Given the description of an element on the screen output the (x, y) to click on. 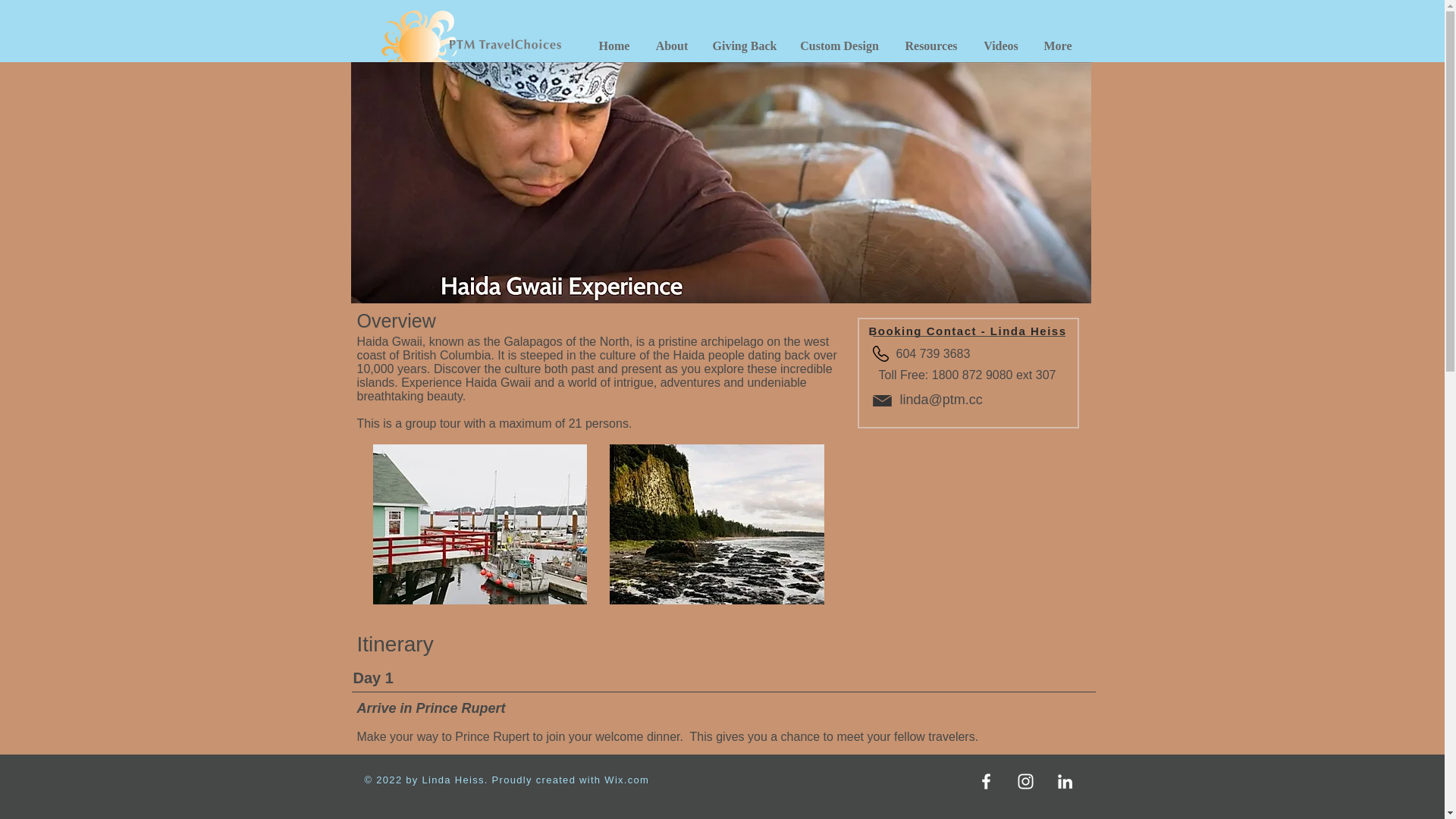
Home (613, 45)
Custom Design (839, 45)
Giving Back (743, 45)
Resources (931, 45)
More (1057, 45)
Wix.com (626, 779)
LINDA - TRAVELCHOICES LOGO.JPG (473, 45)
About (671, 45)
Videos (1000, 45)
